Given the description of an element on the screen output the (x, y) to click on. 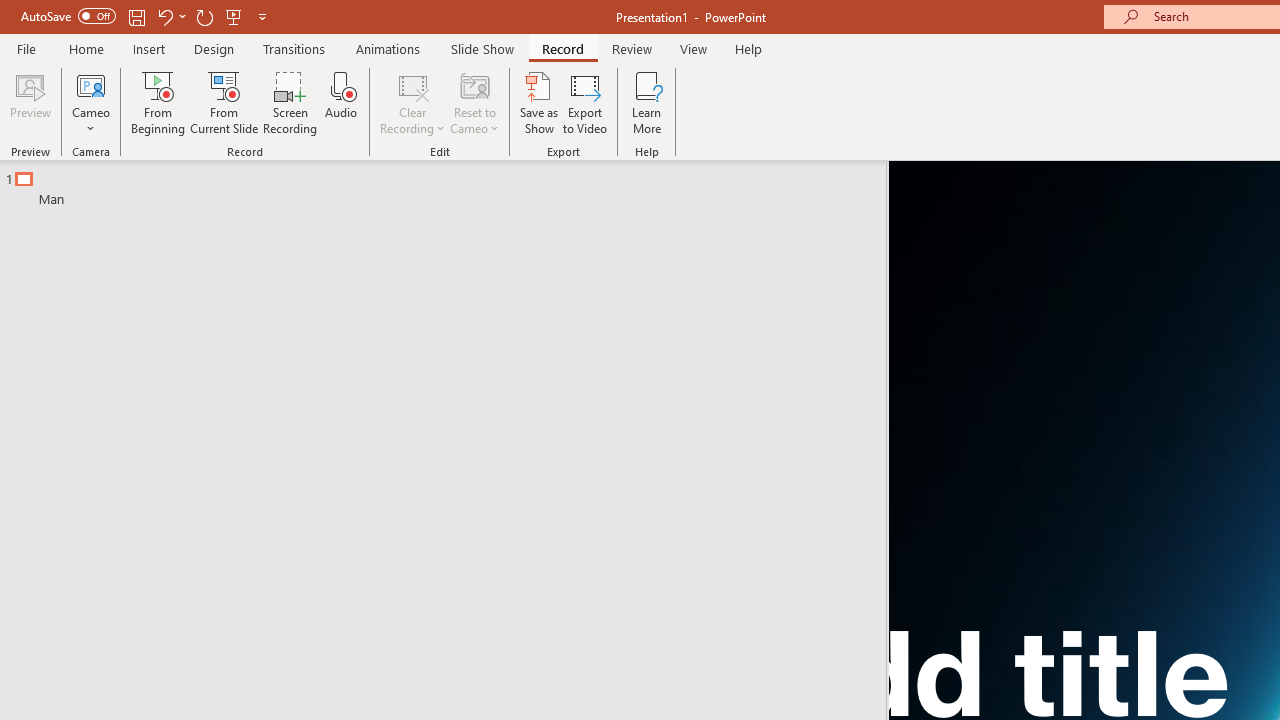
Learn More (646, 102)
Screen Recording (290, 102)
Outline (452, 184)
Reset to Cameo (474, 102)
Clear Recording (412, 102)
Audio (341, 102)
